Given the description of an element on the screen output the (x, y) to click on. 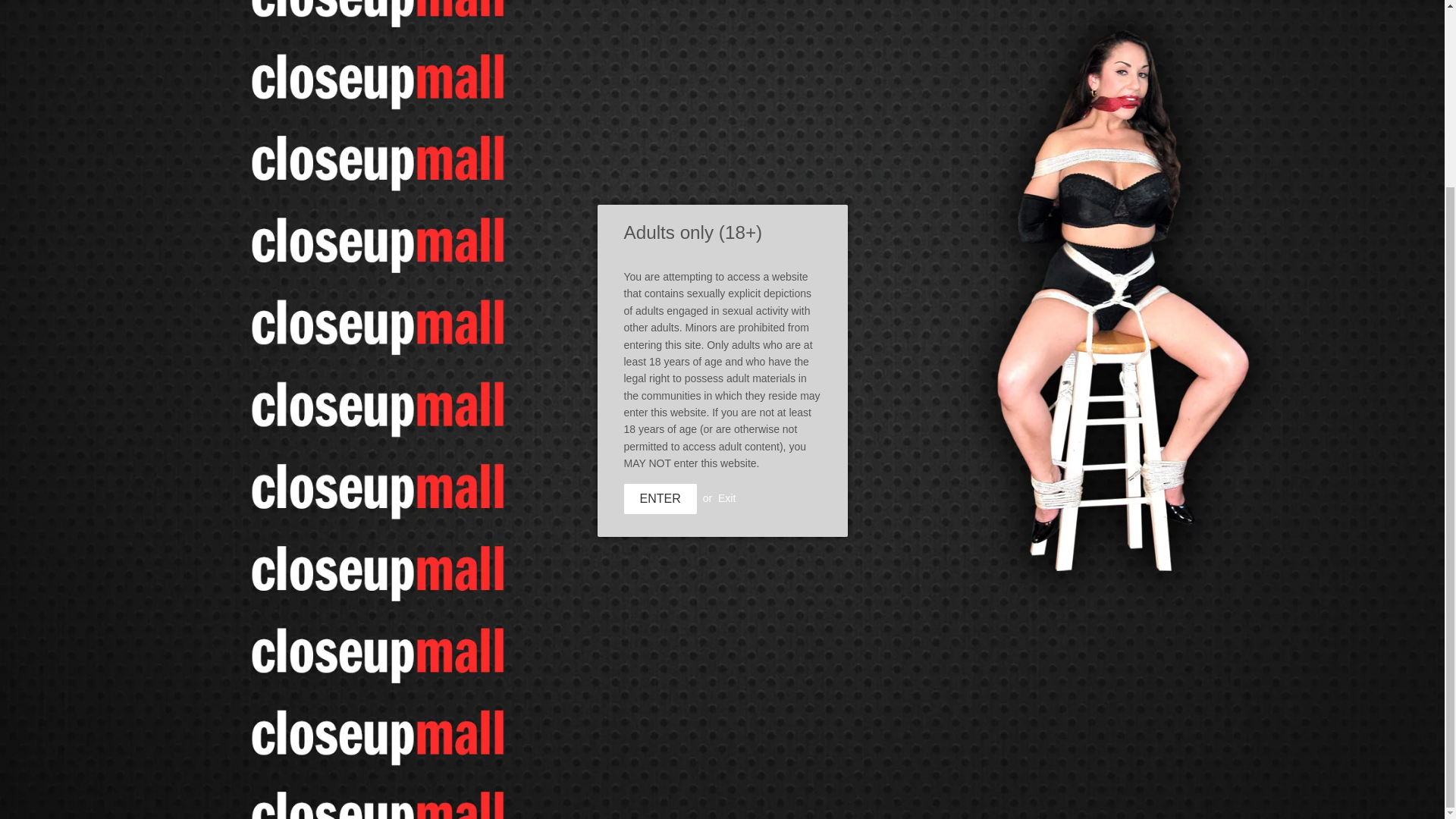
Mastercard (1046, 794)
Discover (966, 794)
American Express (886, 794)
JCB (1005, 794)
Certificate of Compliance (401, 741)
ENTER (659, 266)
Exit (726, 265)
ADD TO CART (712, 122)
Certificate of Compliance (401, 741)
CloseUpMall (405, 794)
Tweet on Twitter (736, 504)
Visa (1085, 794)
Share on Facebook (678, 504)
